Given the description of an element on the screen output the (x, y) to click on. 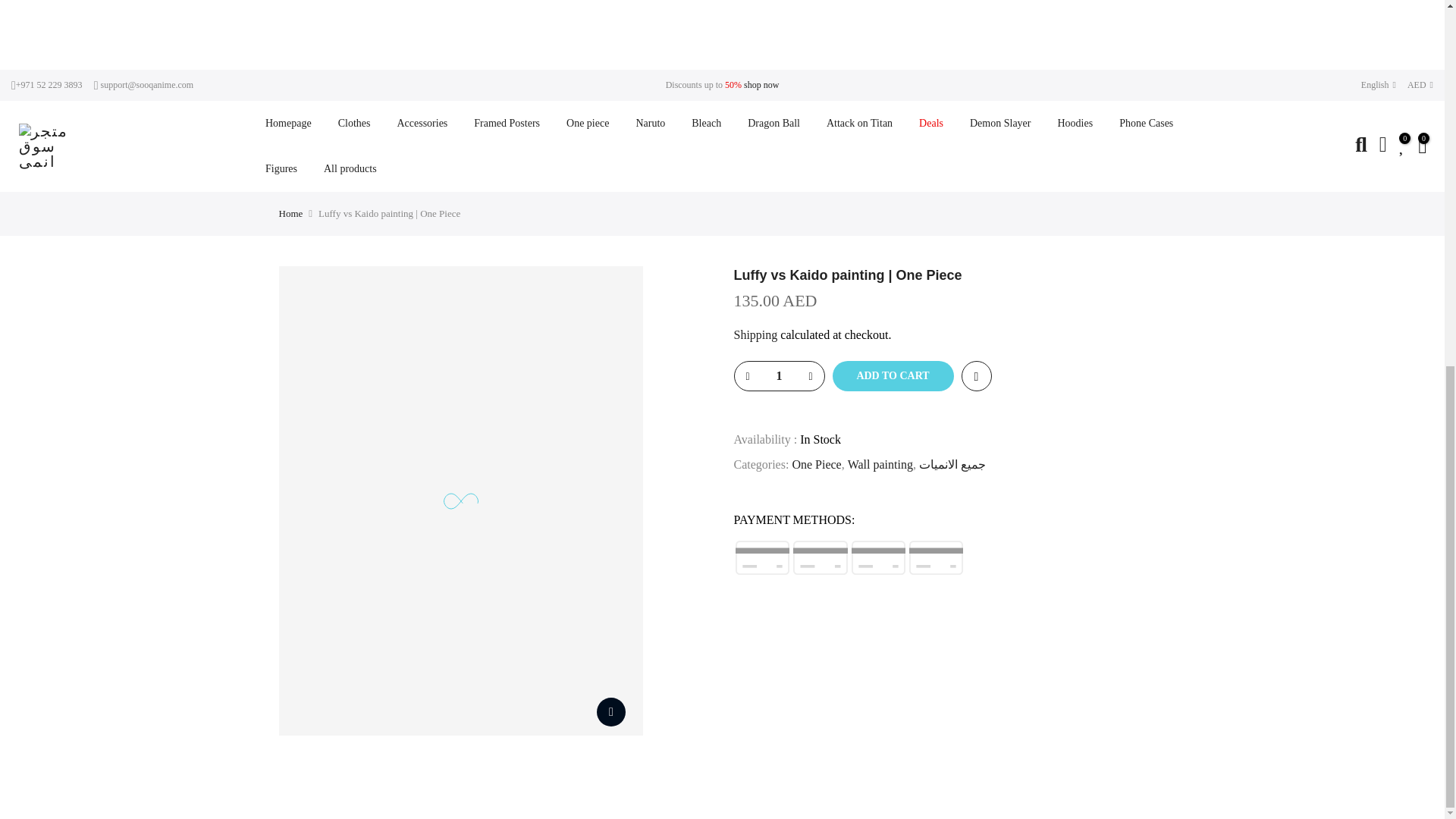
Framed Posters (507, 122)
Clothes (354, 122)
Phone Cases (1146, 122)
Bleach (706, 122)
Deals (930, 122)
shop now (761, 83)
1 (778, 375)
Naruto (650, 122)
Shipping (755, 334)
Attack on Titan (858, 122)
Demon Slayer (999, 122)
Home (290, 213)
Homepage (287, 122)
Figures (280, 167)
Hoodies (1074, 122)
